Given the description of an element on the screen output the (x, y) to click on. 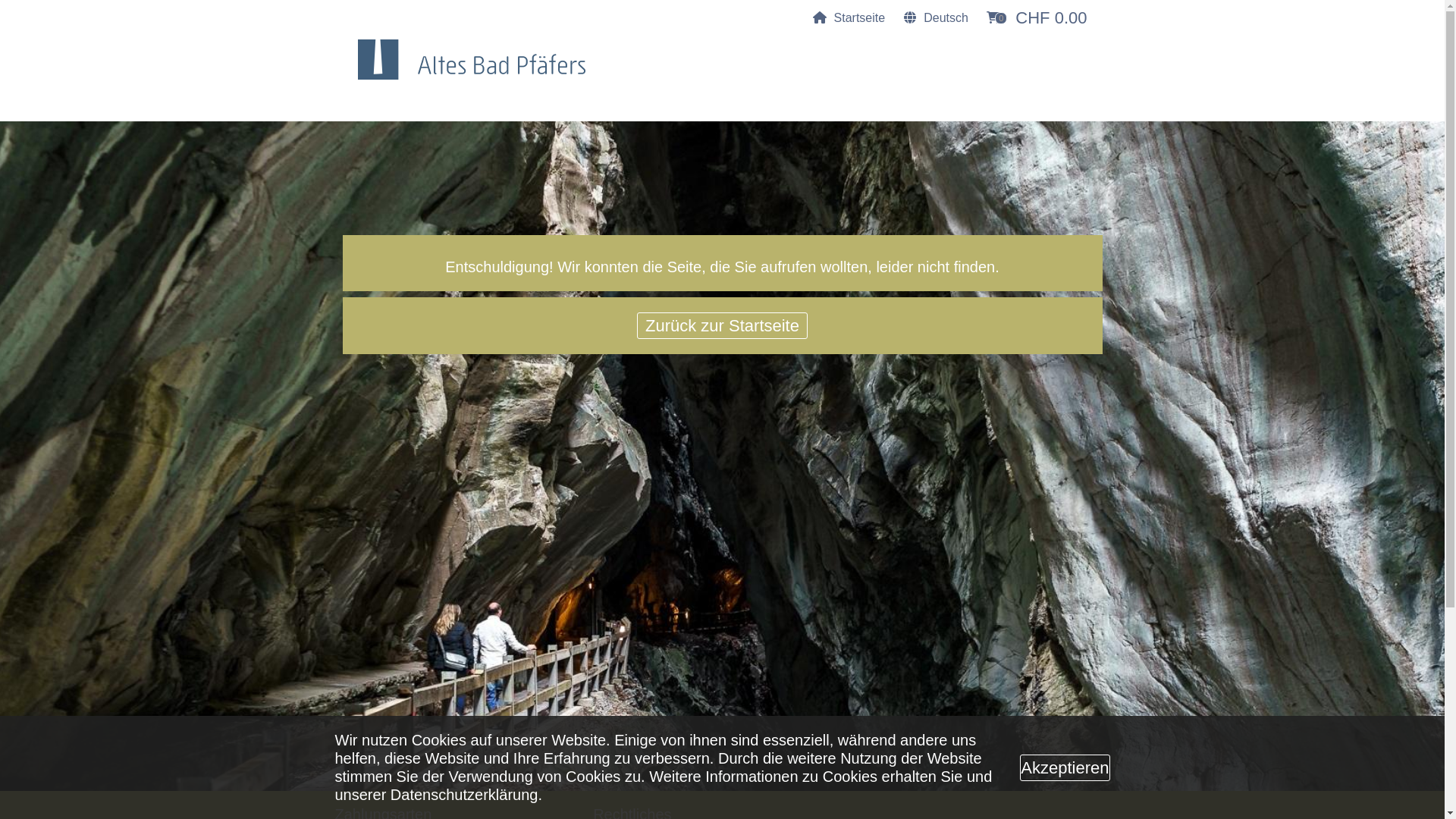
Startseite Element type: text (848, 17)
0
CHF 0.00 Element type: text (1036, 17)
